Given the description of an element on the screen output the (x, y) to click on. 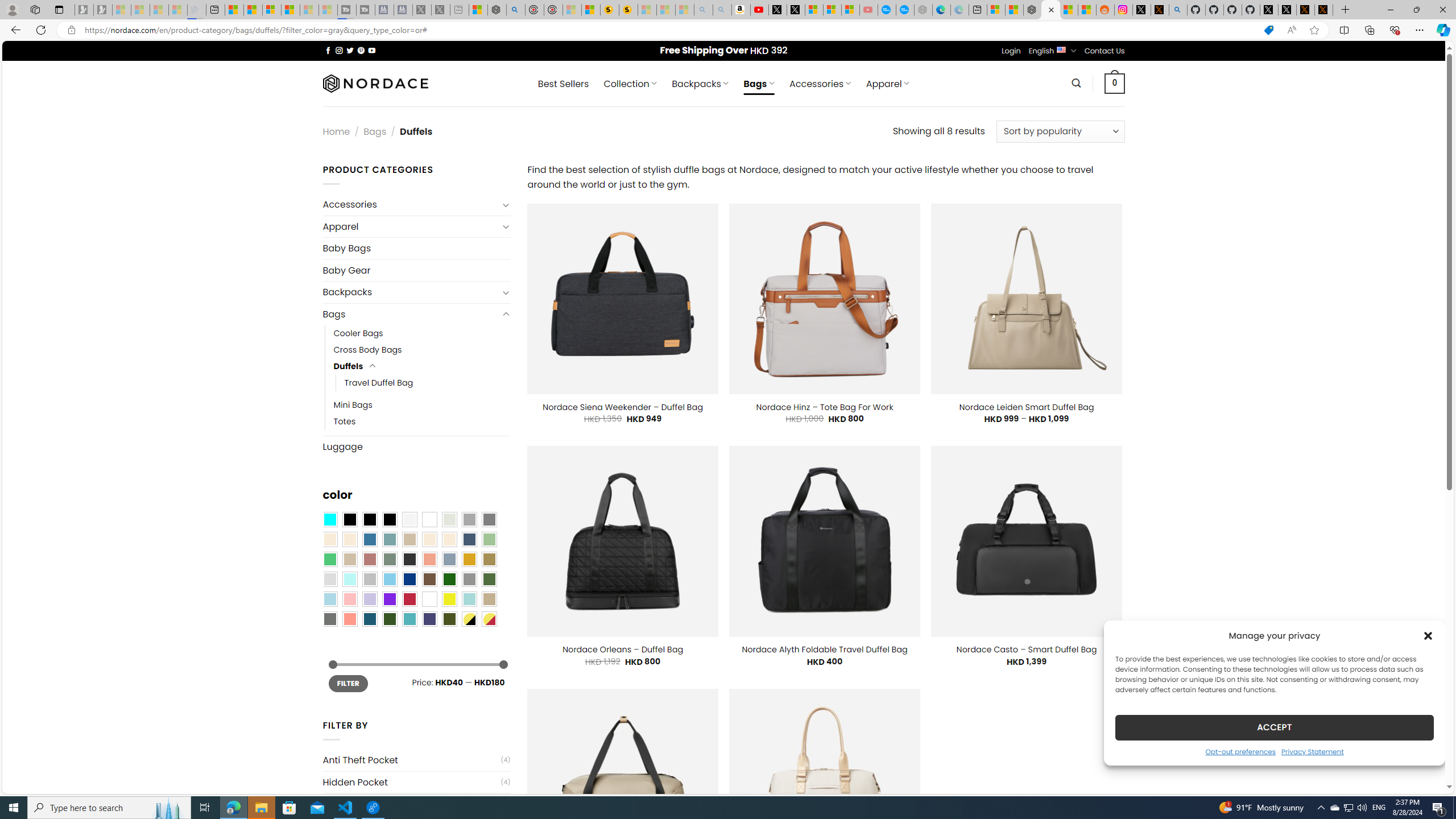
Travel Duffel Bag (427, 382)
Gold (468, 559)
Light Taupe (349, 559)
Yellow (449, 599)
This site has coupons! Shopping in Microsoft Edge (1268, 29)
Backpacks (410, 292)
Sky Blue (389, 579)
Hidden Pocket(4) (416, 781)
Capri Blue (369, 618)
